Given the description of an element on the screen output the (x, y) to click on. 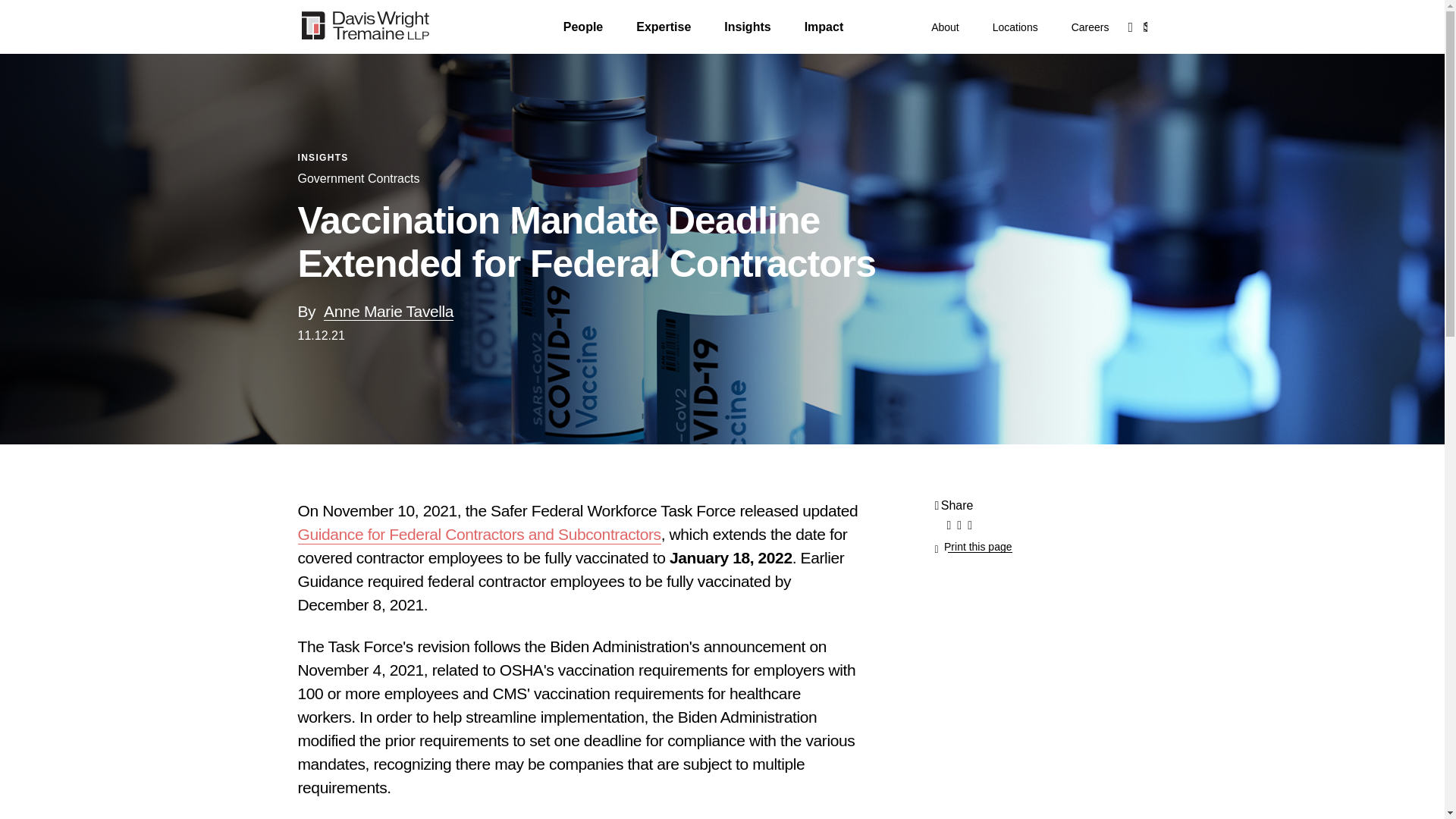
People (582, 27)
Expertise (663, 27)
Locations (1015, 27)
Government Contracts (358, 178)
Impact (824, 27)
Guidance for Federal Contractors and Subcontractors (479, 534)
Insights (746, 27)
About (945, 27)
Print this page (972, 546)
